Given the description of an element on the screen output the (x, y) to click on. 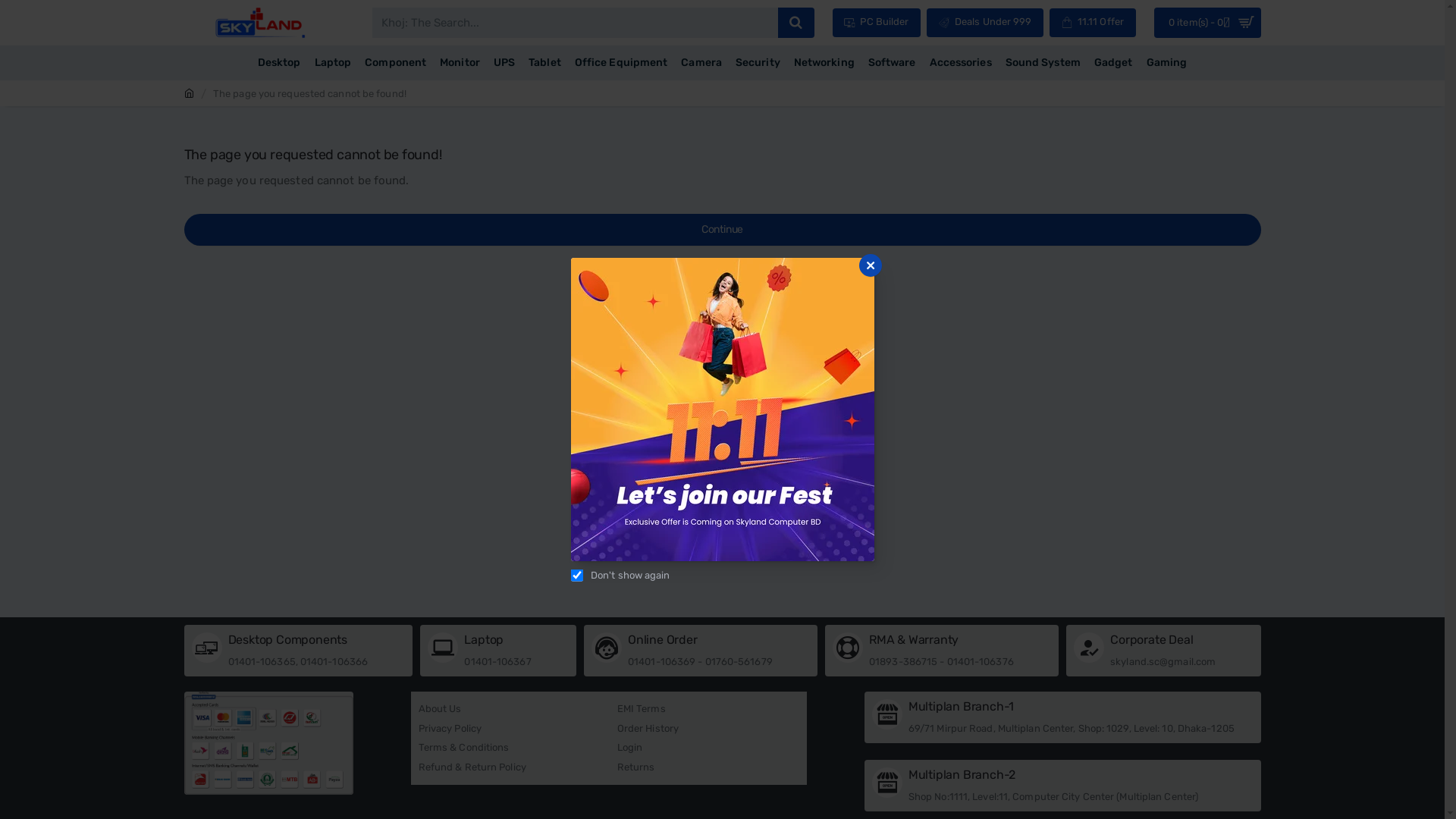
Desktop Element type: text (279, 62)
Deals Under 999 Element type: text (984, 22)
Software Element type: text (891, 62)
Skyland Computer BD Element type: hover (259, 22)
Security Element type: text (757, 62)
About Us Element type: text (439, 708)
Returns Element type: text (636, 767)
11.11 Offer Element type: text (1092, 22)
Component Element type: text (395, 62)
Laptop Element type: text (333, 62)
Terms & Conditions Element type: text (463, 747)
Privacy Policy Element type: text (449, 728)
Order History Element type: text (647, 728)
Refund & Return Policy Element type: text (472, 767)
Office Equipment Element type: text (621, 62)
The page you requested cannot be found! Element type: text (309, 93)
Gadget Element type: text (1113, 62)
EMI Terms Element type: text (641, 708)
Tablet Element type: text (544, 62)
Accessories Element type: text (960, 62)
PC Builder Element type: text (876, 22)
Gaming Element type: text (1166, 62)
Continue Element type: text (721, 229)
Networking Element type: text (823, 62)
Monitor Element type: text (459, 62)
home Element type: text (188, 93)
Login Element type: text (630, 747)
Camera Element type: text (701, 62)
Sound System Element type: text (1042, 62)
UPS Element type: text (504, 62)
